Given the description of an element on the screen output the (x, y) to click on. 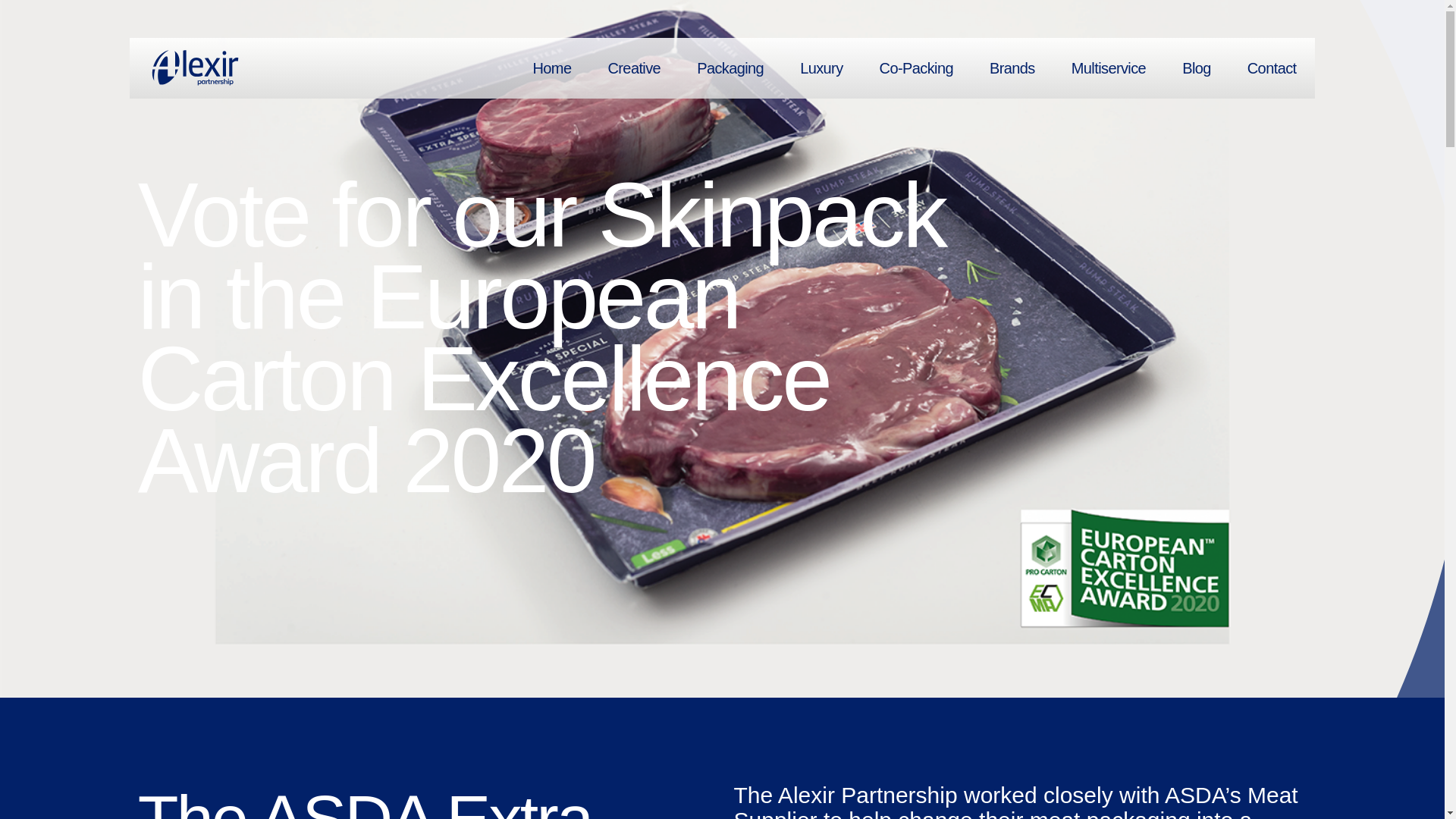
Multiservice (1107, 67)
Packaging (729, 67)
Contact (1271, 67)
Creative (633, 67)
Home (551, 67)
Co-Packing (916, 67)
Brands (1011, 67)
Blog (1195, 67)
Luxury (820, 67)
